Given the description of an element on the screen output the (x, y) to click on. 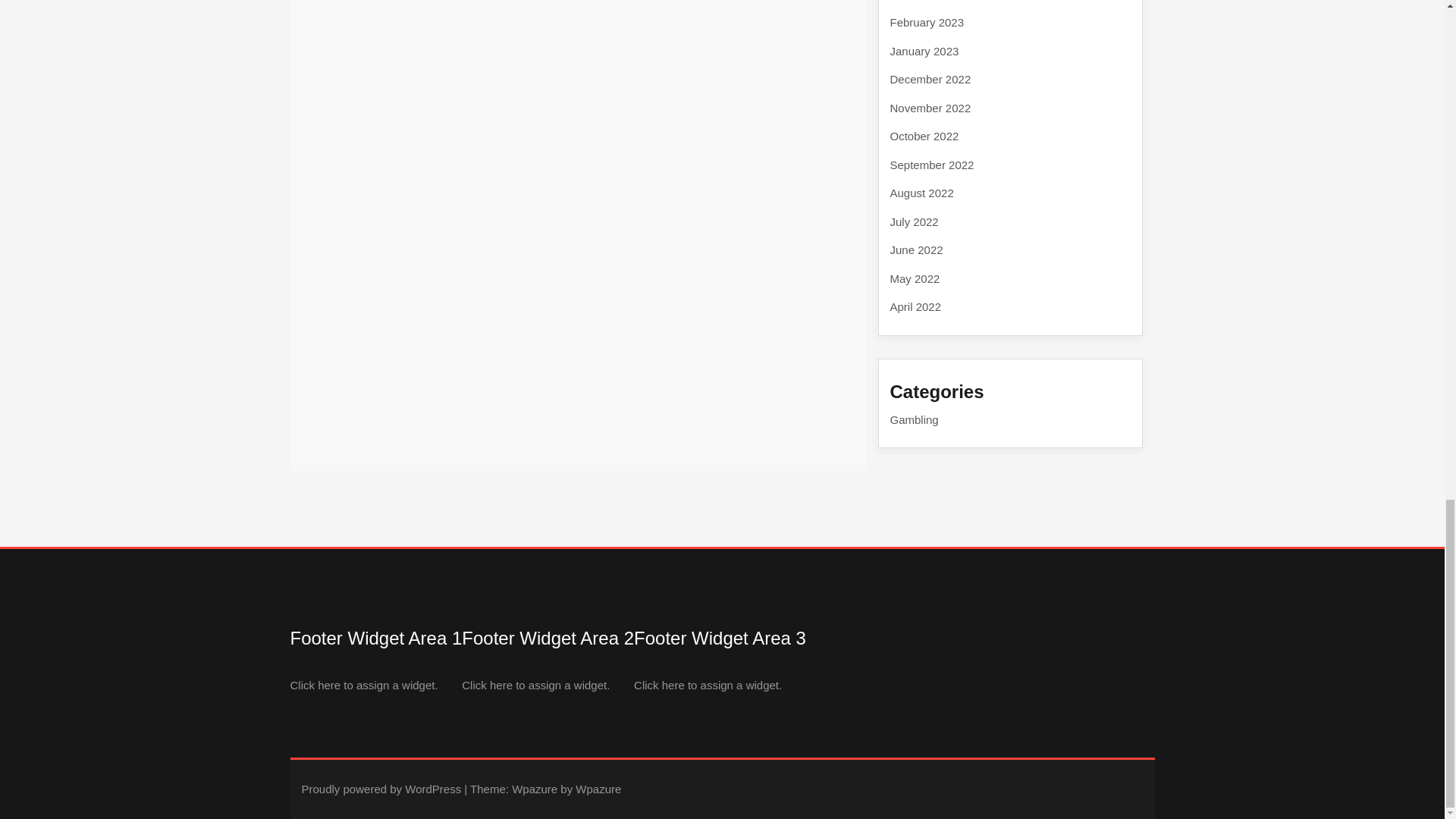
April 2022 (915, 306)
September 2022 (931, 164)
January 2023 (924, 50)
June 2022 (916, 249)
March 2023 (919, 0)
February 2023 (926, 21)
December 2022 (930, 78)
October 2022 (924, 135)
May 2022 (914, 277)
November 2022 (930, 107)
